Given the description of an element on the screen output the (x, y) to click on. 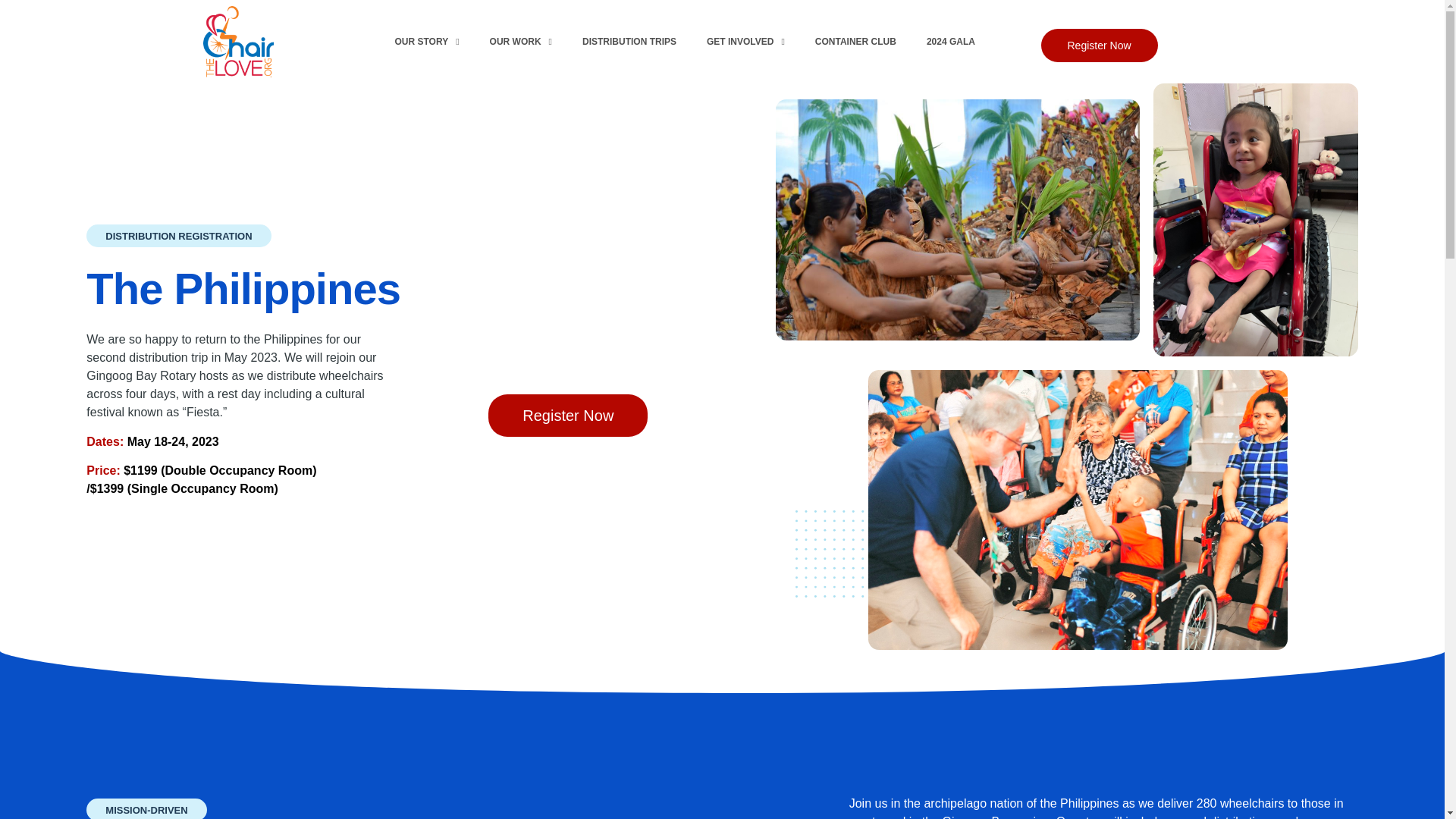
DISTRIBUTION TRIPS (629, 41)
OUR STORY (426, 41)
OUR WORK (520, 41)
